Given the description of an element on the screen output the (x, y) to click on. 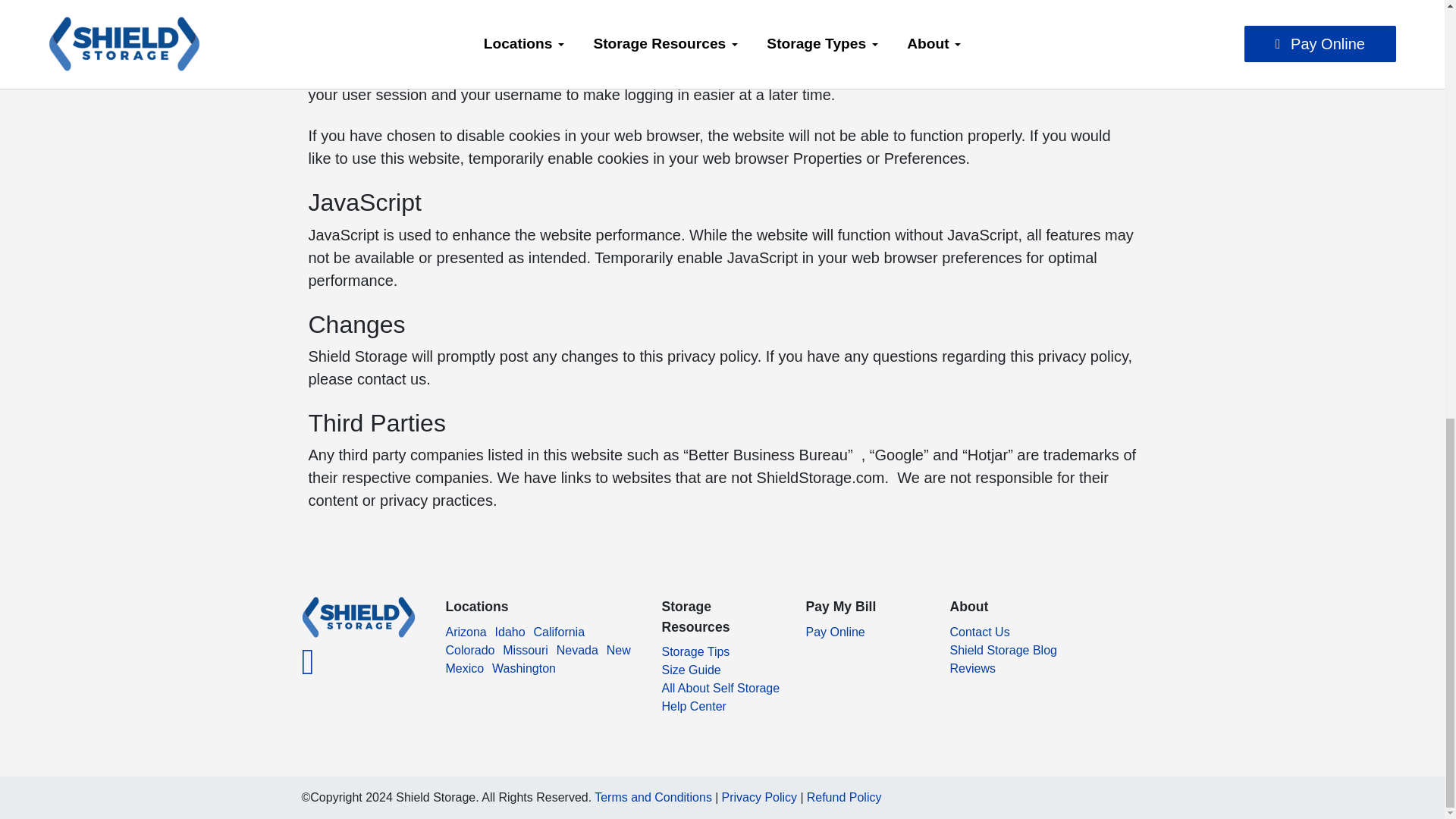
Colorado (470, 649)
Missouri (525, 649)
California (558, 631)
Arizona (465, 631)
Nevada (577, 649)
Idaho (510, 631)
